Given the description of an element on the screen output the (x, y) to click on. 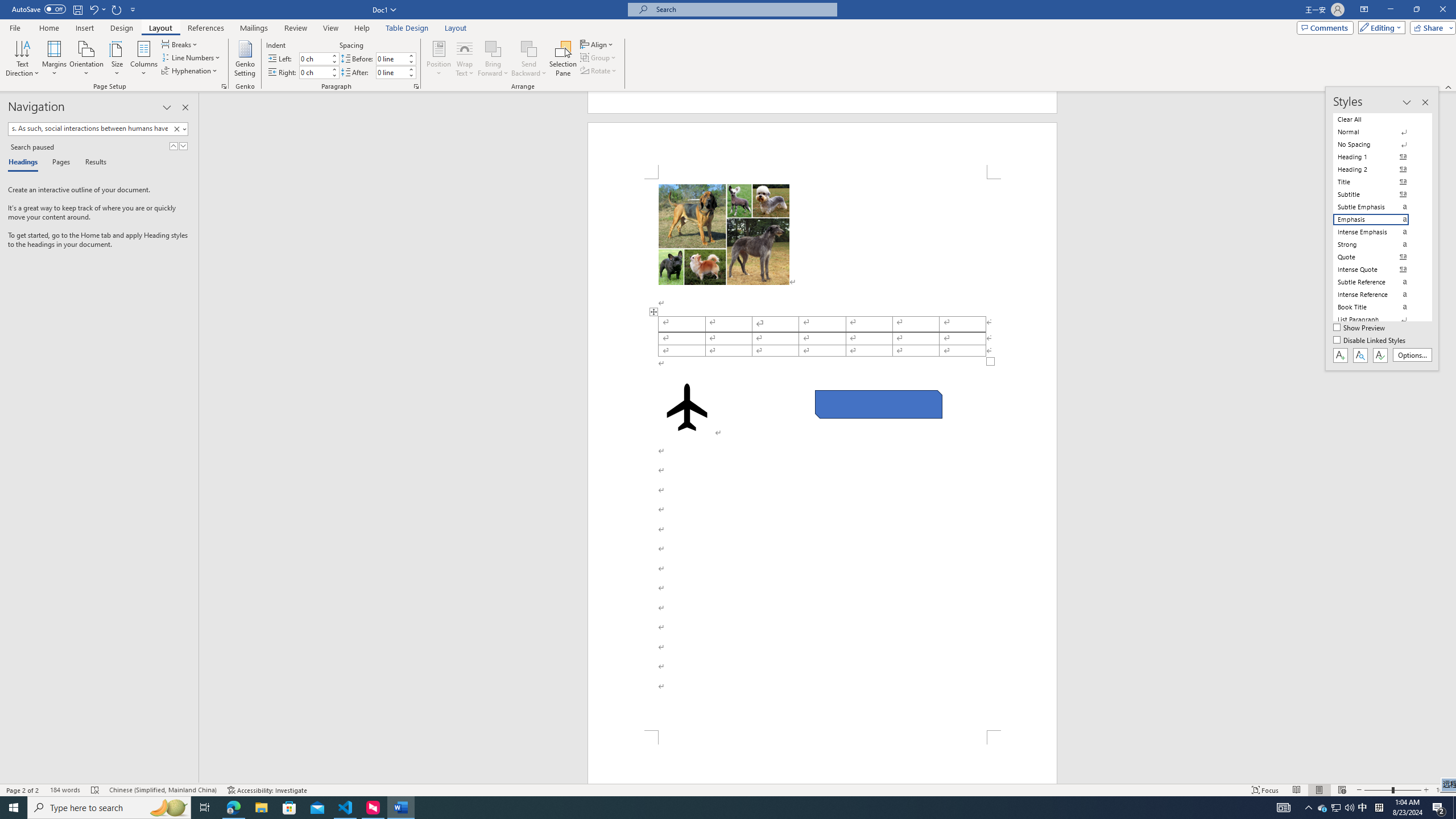
Show Preview (1360, 328)
Bring Forward (492, 48)
Page 2 content (822, 454)
Clear (176, 128)
Send Backward (528, 48)
Send Backward (528, 58)
Wrap Text (464, 58)
